Given the description of an element on the screen output the (x, y) to click on. 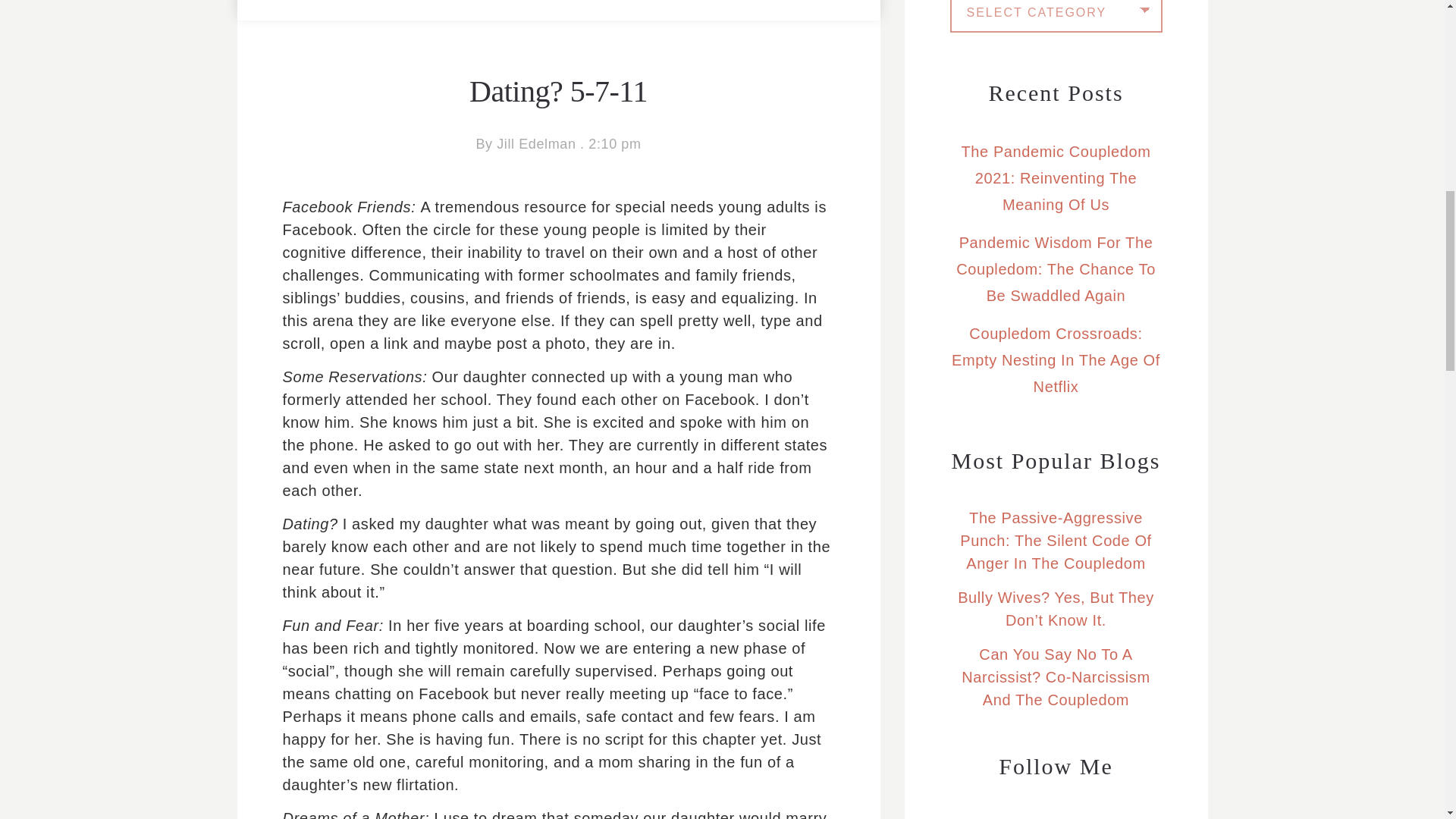
The Pandemic Coupledom 2021: Reinventing The Meaning Of Us (1055, 177)
Coupledom Crossroads: Empty Nesting In The Age Of Netflix (1056, 359)
